Given the description of an element on the screen output the (x, y) to click on. 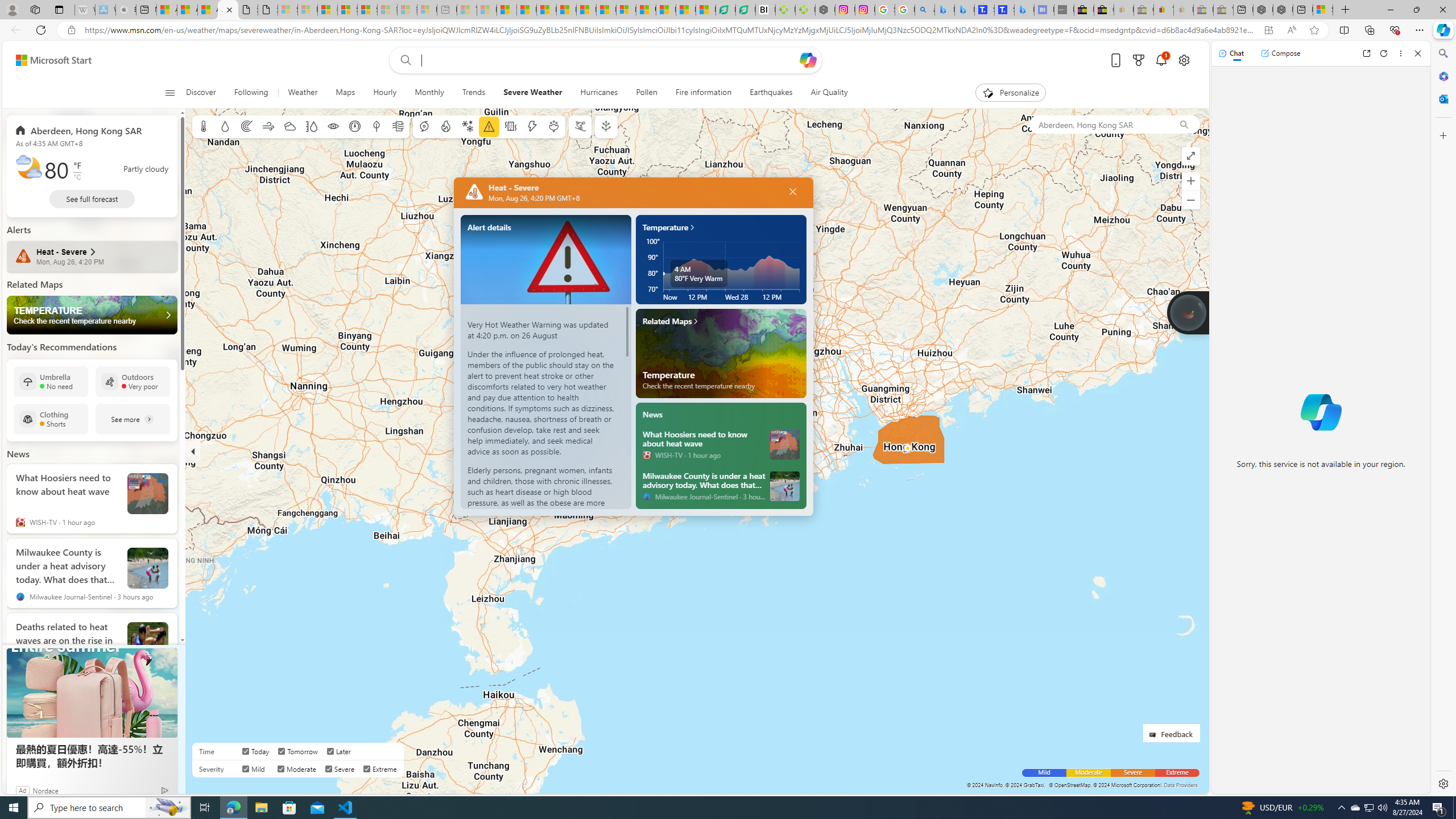
Fire information (703, 92)
